Given the description of an element on the screen output the (x, y) to click on. 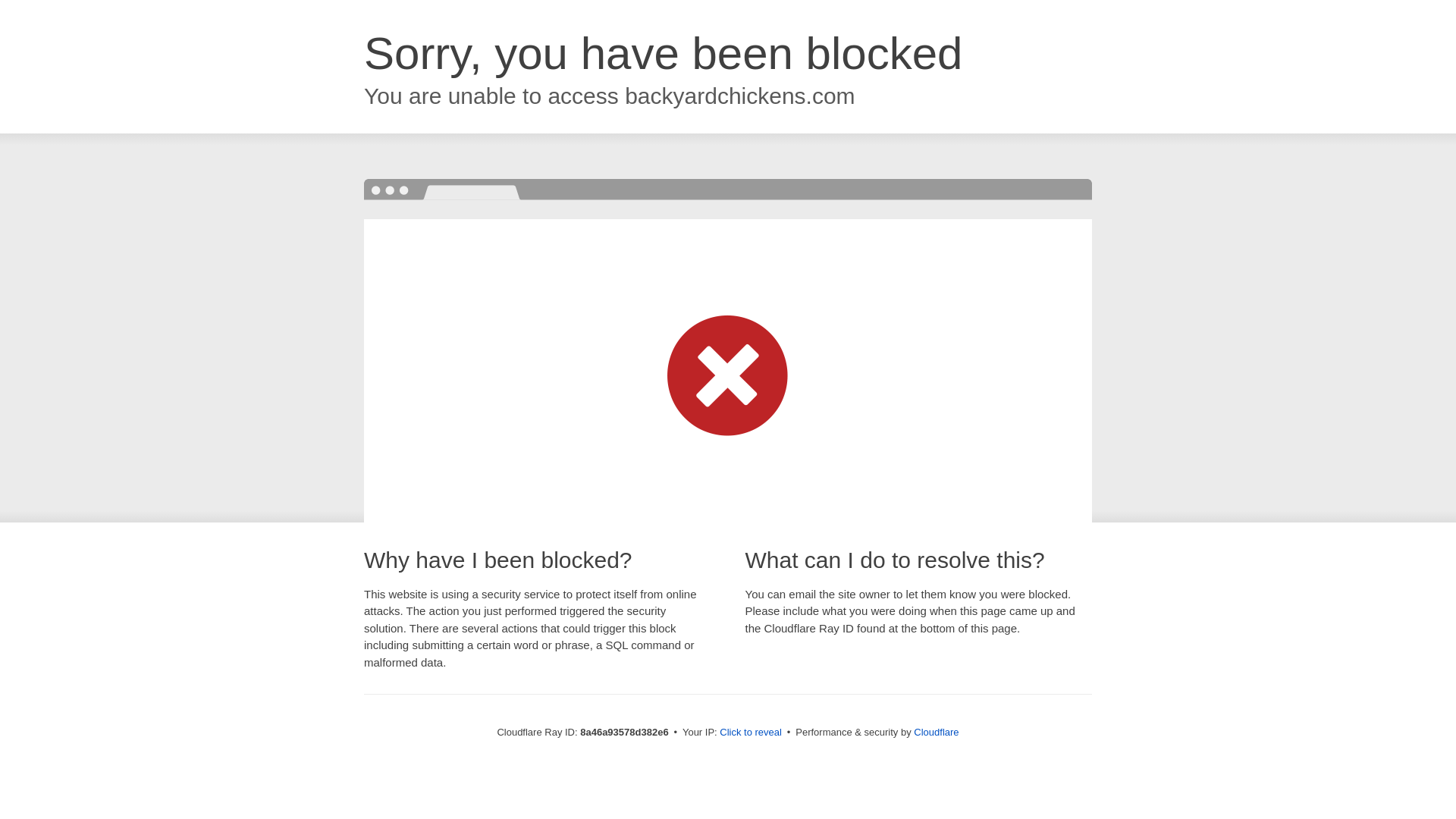
Cloudflare (936, 731)
Click to reveal (750, 732)
